Given the description of an element on the screen output the (x, y) to click on. 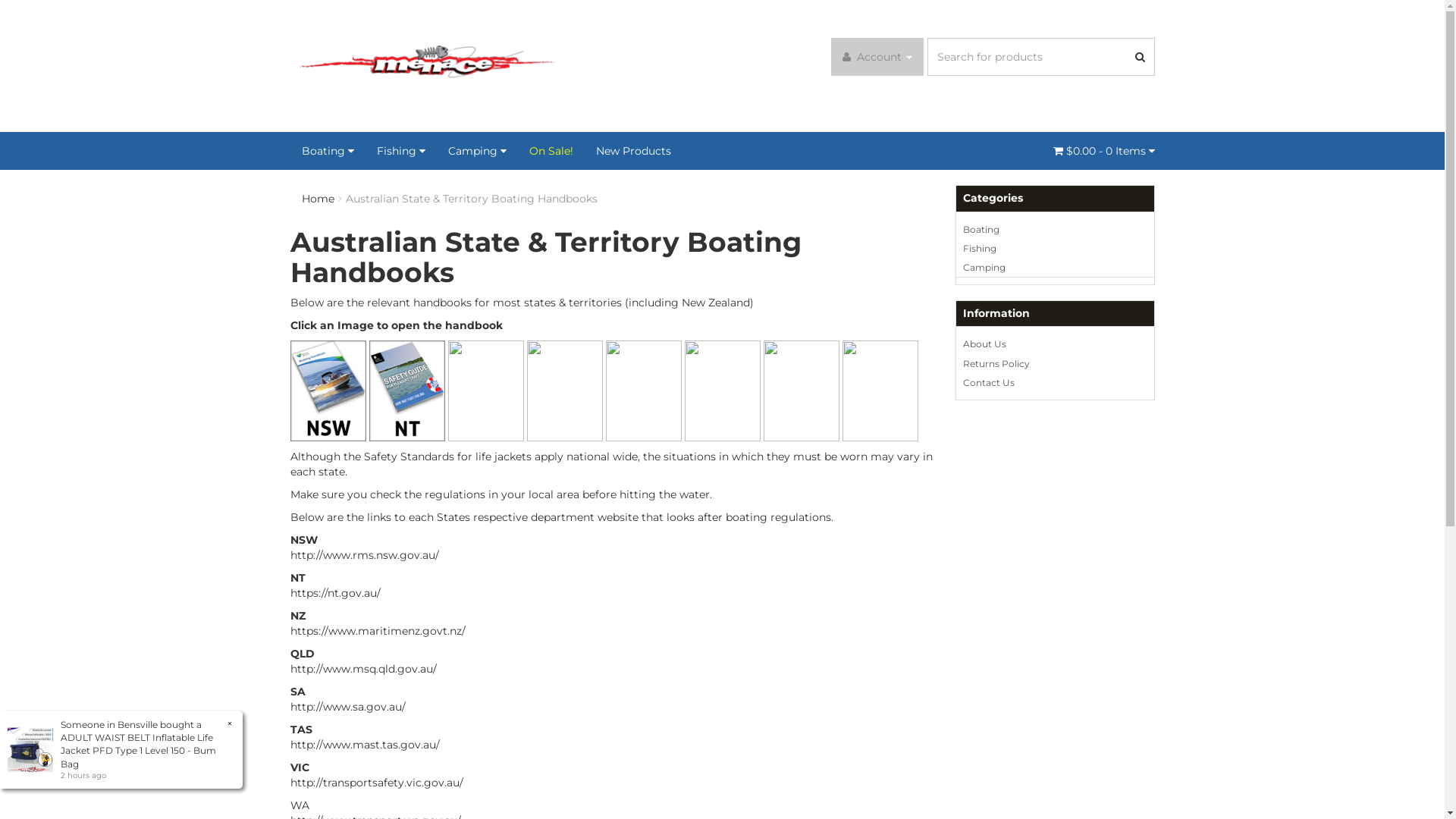
Boating Element type: text (326, 150)
Home Element type: text (317, 198)
Blog Element type: text (1009, 14)
 Account Element type: text (877, 56)
Search Element type: text (1139, 56)
On Sale! Element type: text (550, 150)
https://nt.gov.au/ Element type: text (334, 592)
Menace Marine Element type: hover (425, 64)
Contact Us Element type: text (1055, 382)
Boating Element type: text (1055, 229)
http://www.sa.gov.au/ Element type: text (346, 706)
Camping Element type: text (476, 150)
About Us Element type: text (1058, 14)
Australian State & Territory Boating Handbooks Element type: text (471, 198)
Returns Policy Element type: text (1055, 363)
http://www.mast.tas.gov.au/ Element type: text (364, 744)
Camping Element type: text (1055, 267)
http://www.rms.nsw.gov.au/ Element type: text (363, 554)
Contact Us Element type: text (1121, 14)
About Us Element type: text (1055, 343)
http://www.msq.qld.gov.au/ Element type: text (362, 668)
http://transportsafety.vic.gov.au/ Element type: text (375, 782)
1300 MENACE (636 223) Element type: text (1046, 95)
New Products Element type: text (632, 150)
Fishing Element type: text (400, 150)
Fishing Element type: text (1055, 248)
https://www.maritimenz.govt.nz/ Element type: text (376, 630)
$0.00 - 0 Items Element type: text (1103, 150)
